Given the description of an element on the screen output the (x, y) to click on. 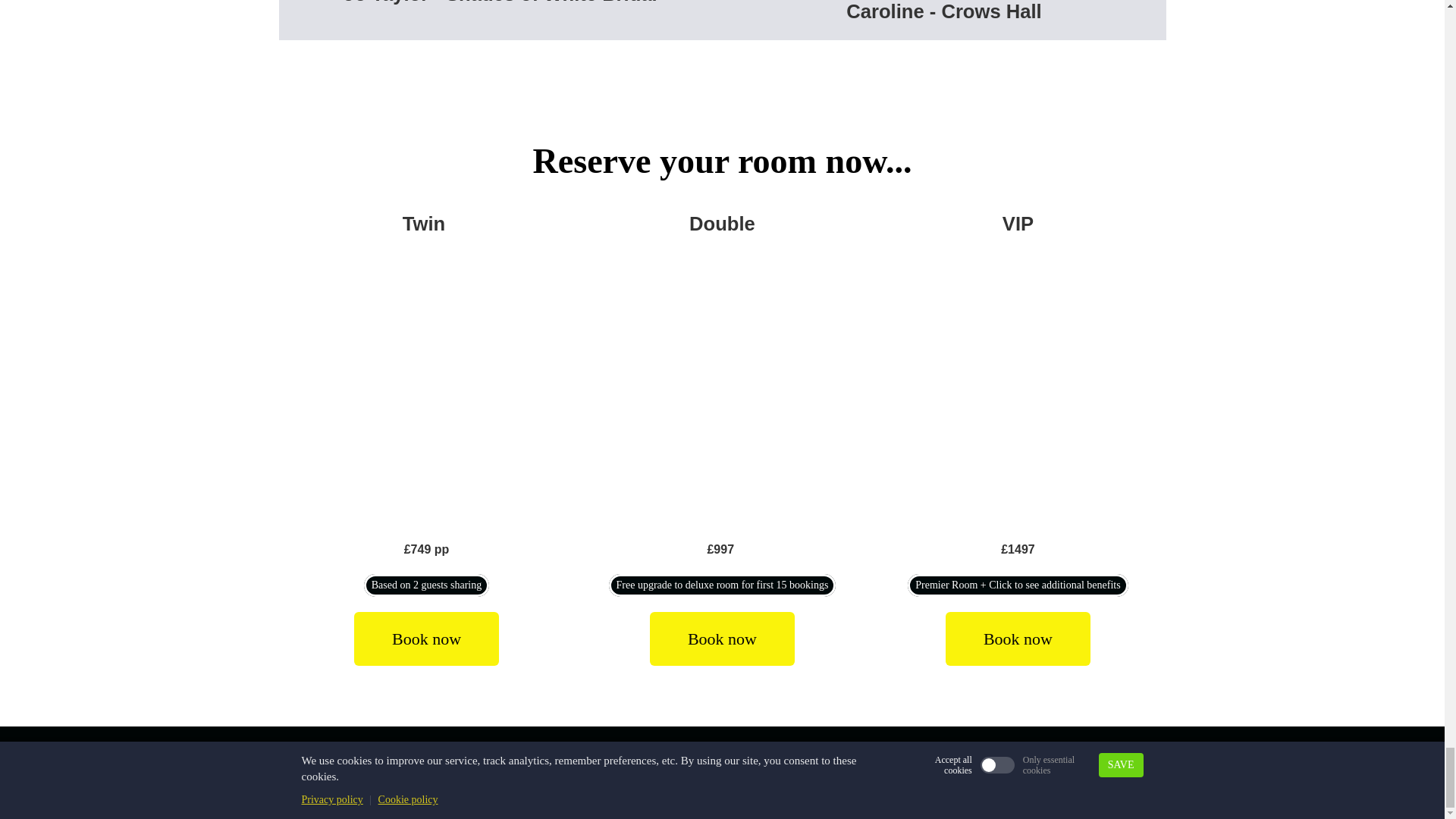
Based on 2 guests sharing (426, 585)
Privacy Policy (821, 764)
Free upgrade to deluxe room for first 15 bookings (721, 585)
Book now (1017, 638)
Book now (426, 638)
Book now (721, 638)
